Given the description of an element on the screen output the (x, y) to click on. 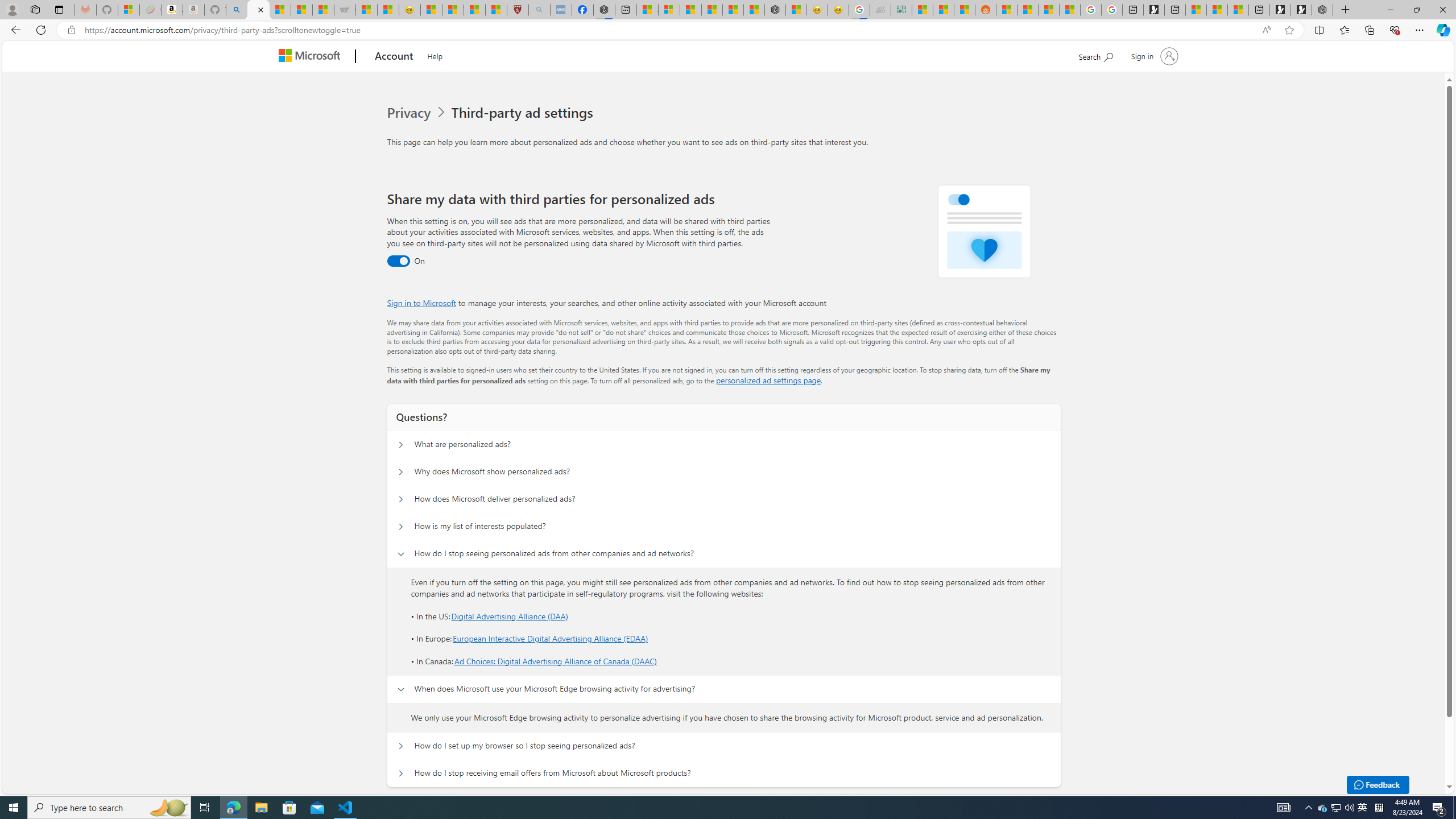
European Interactive Digital Advertising Alliance (EDAA) (549, 638)
Privacy (418, 112)
These 3 Stocks Pay You More Than 5% to Own Them (1238, 9)
Microsoft Start Gaming (1153, 9)
Microsoft (311, 56)
Microsoft-Report a Concern to Bing (128, 9)
